Given the description of an element on the screen output the (x, y) to click on. 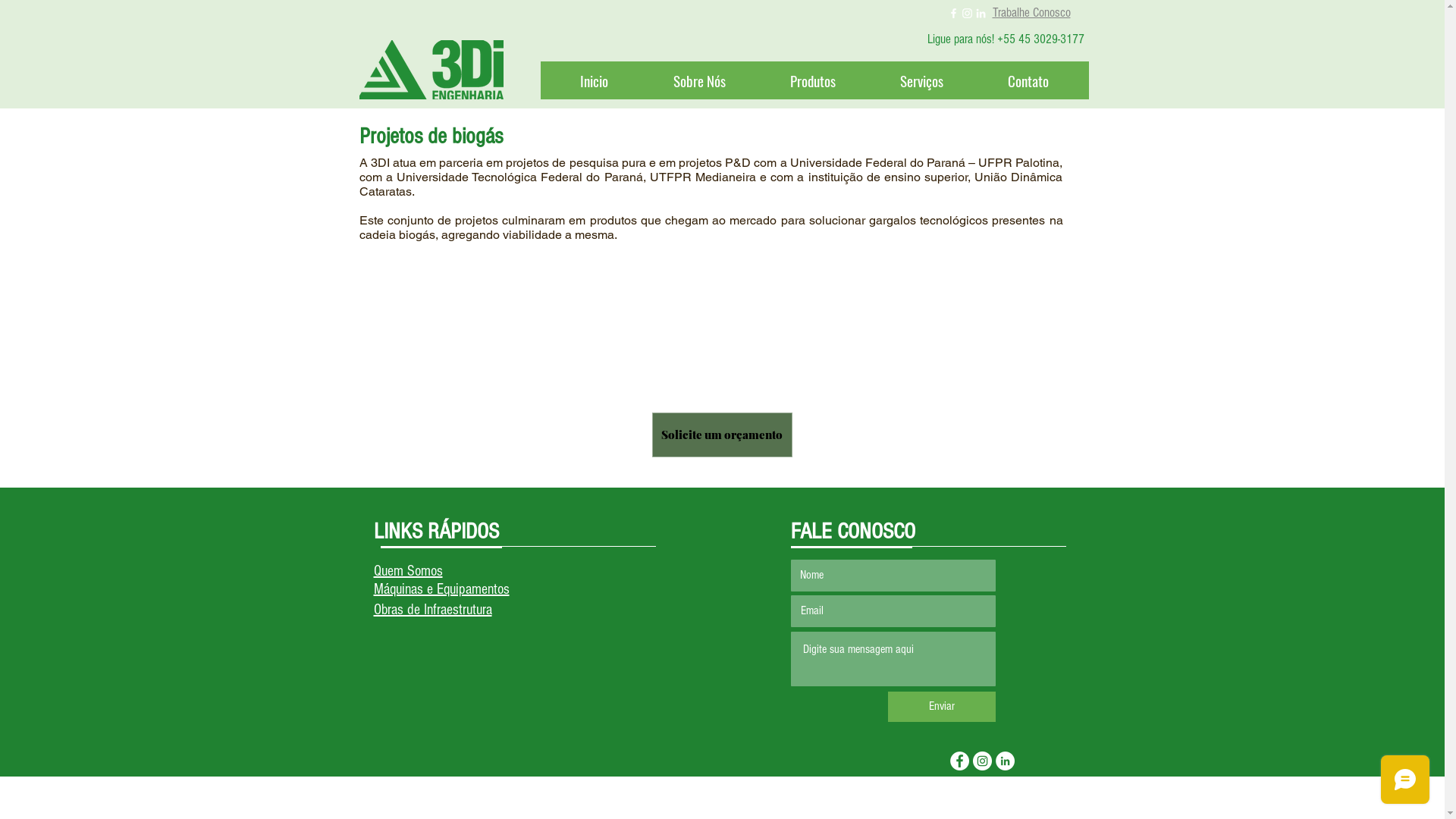
Produtos Element type: text (812, 80)
Contato Element type: text (1027, 80)
Cookie Alert Element type: hover (409, 764)
Obras de Infraestrutura Element type: text (432, 609)
Enviar Element type: text (940, 706)
Quem Somos Element type: text (407, 570)
Trabalhe Conosco Element type: text (1030, 12)
Inicio Element type: text (593, 80)
